Given the description of an element on the screen output the (x, y) to click on. 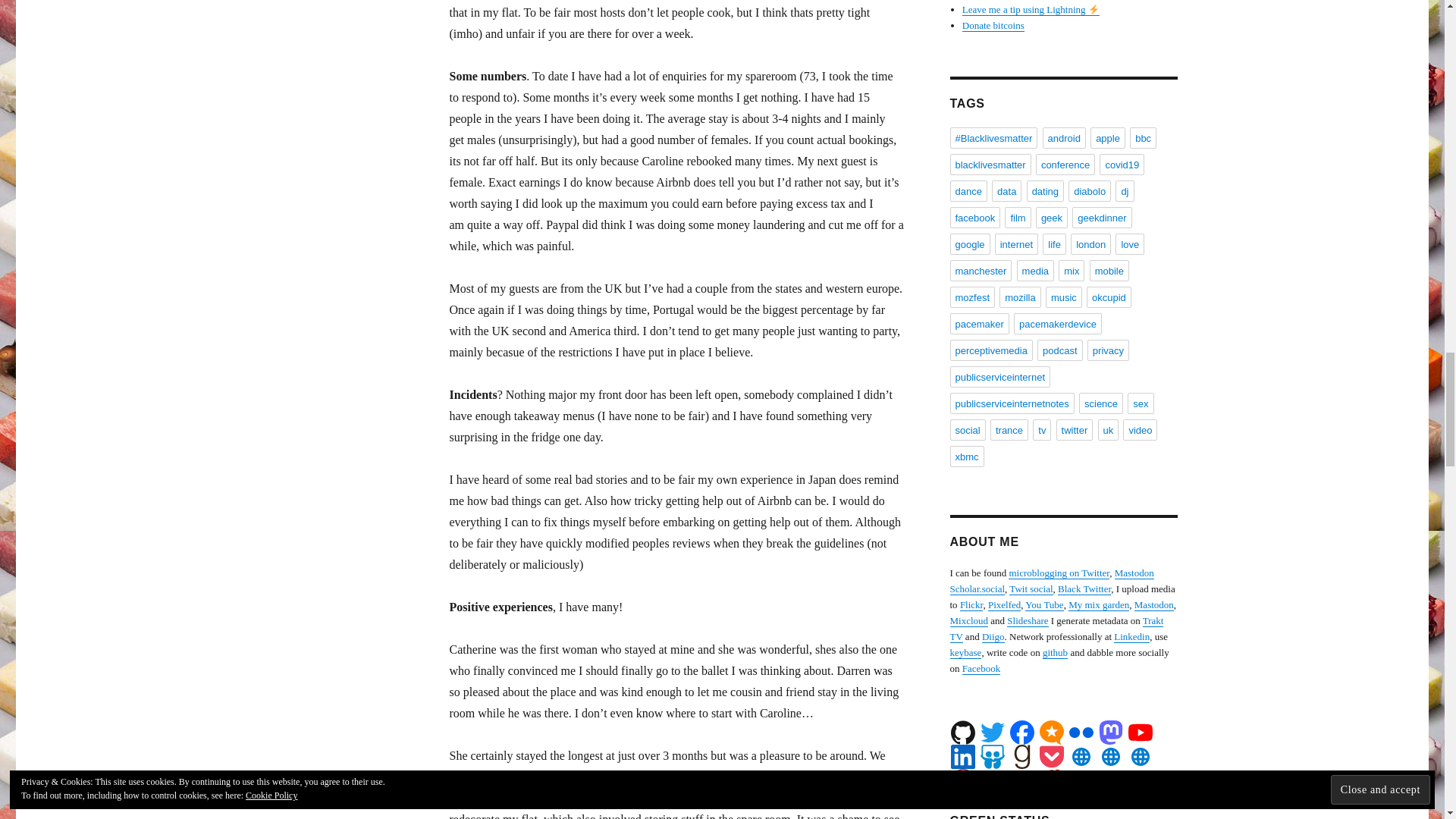
GitHub (962, 732)
Twitter (991, 732)
